Given the description of an element on the screen output the (x, y) to click on. 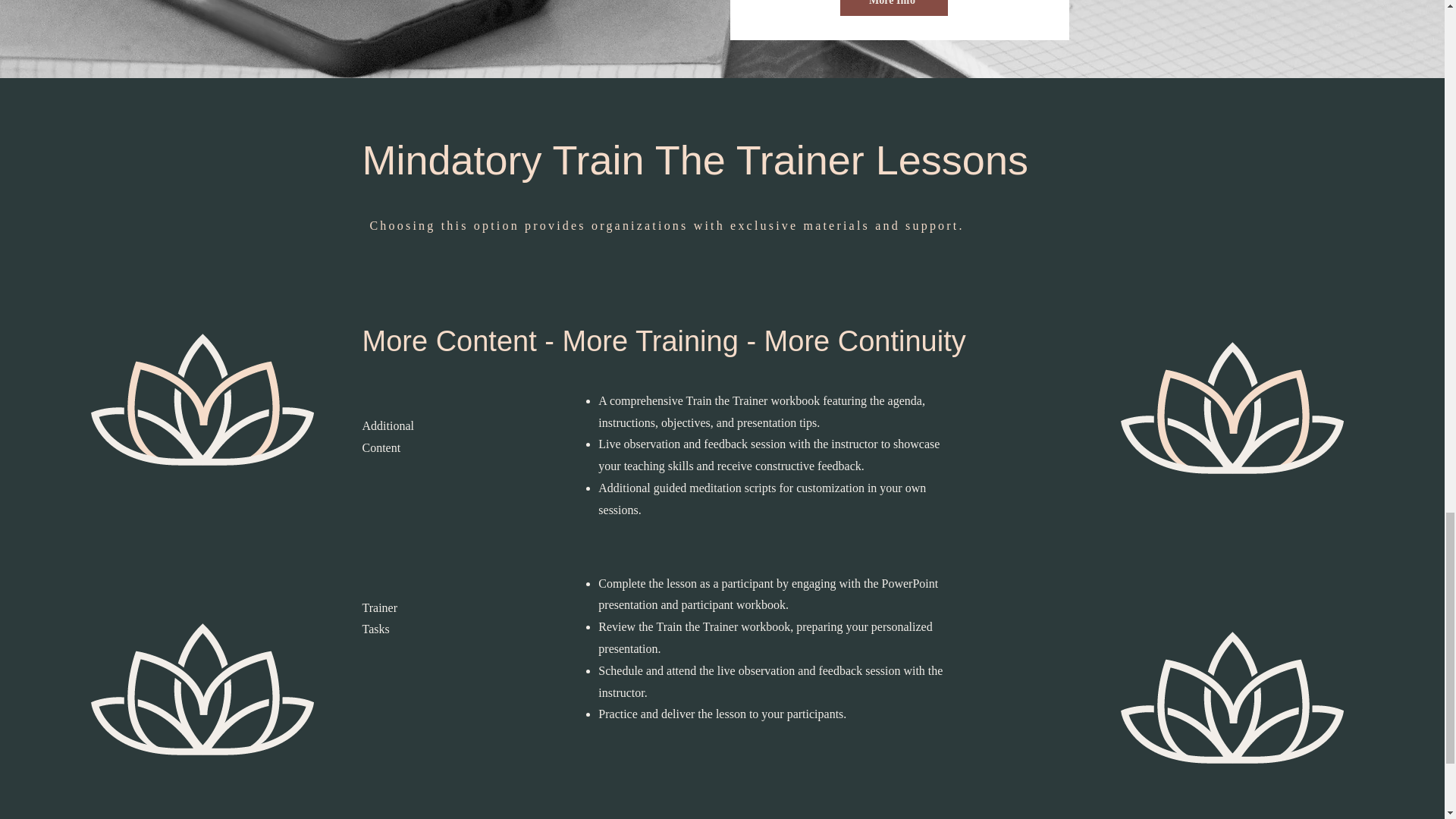
More Info (893, 7)
